Given the description of an element on the screen output the (x, y) to click on. 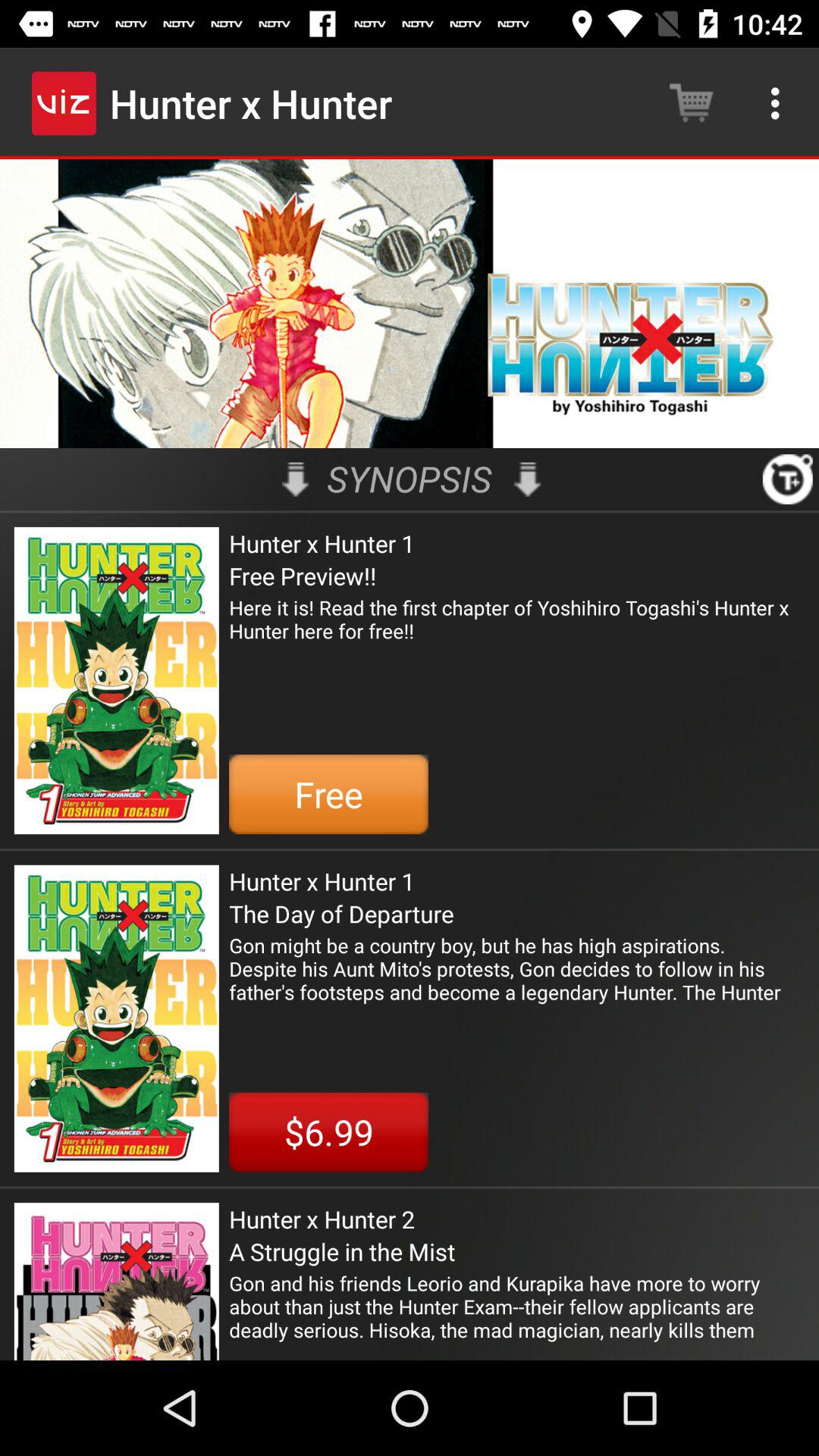
swipe until gon might be item (516, 968)
